Given the description of an element on the screen output the (x, y) to click on. 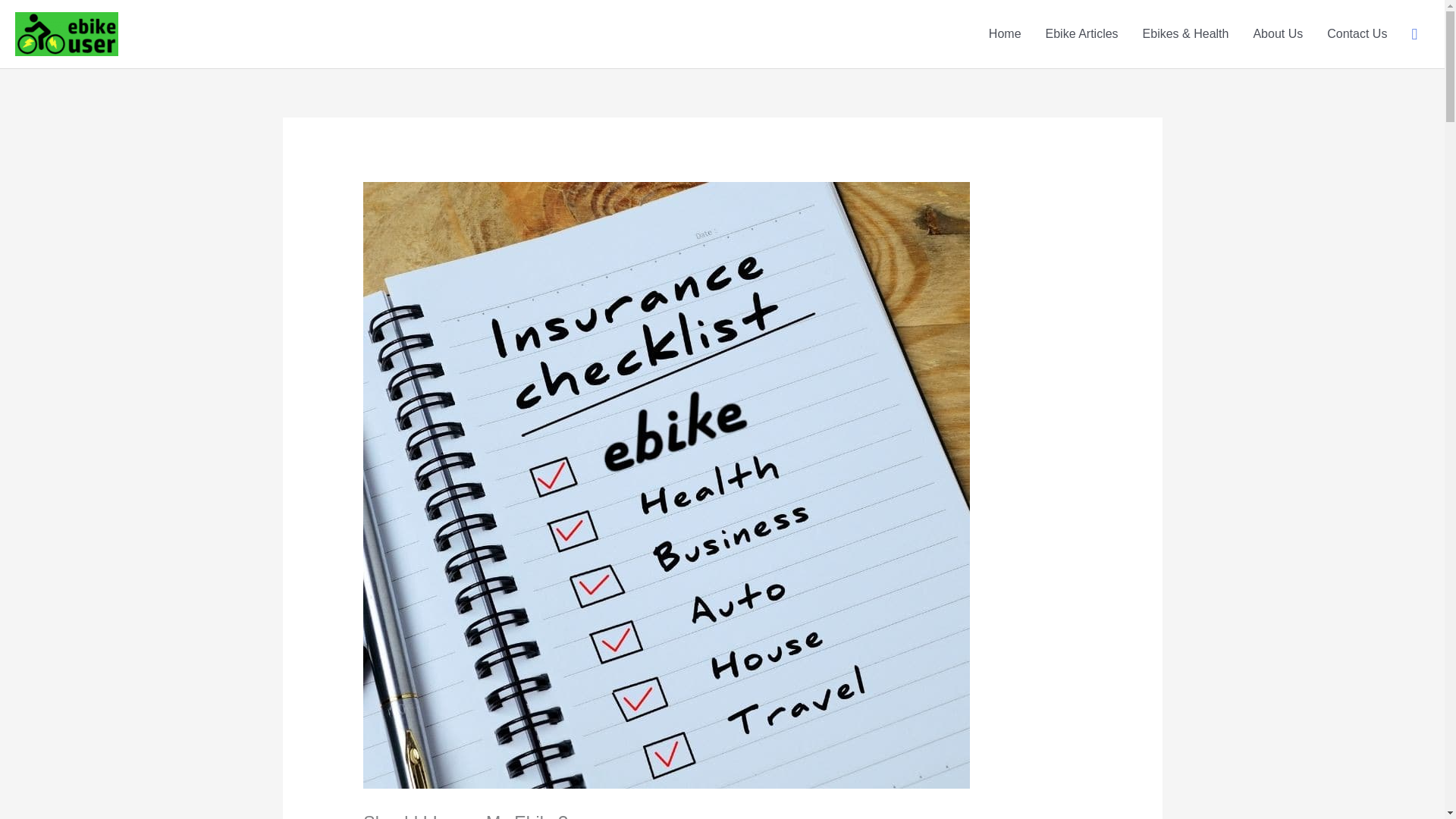
Contact Us (1356, 33)
Ebike Articles (1082, 33)
About Us (1277, 33)
